Given the description of an element on the screen output the (x, y) to click on. 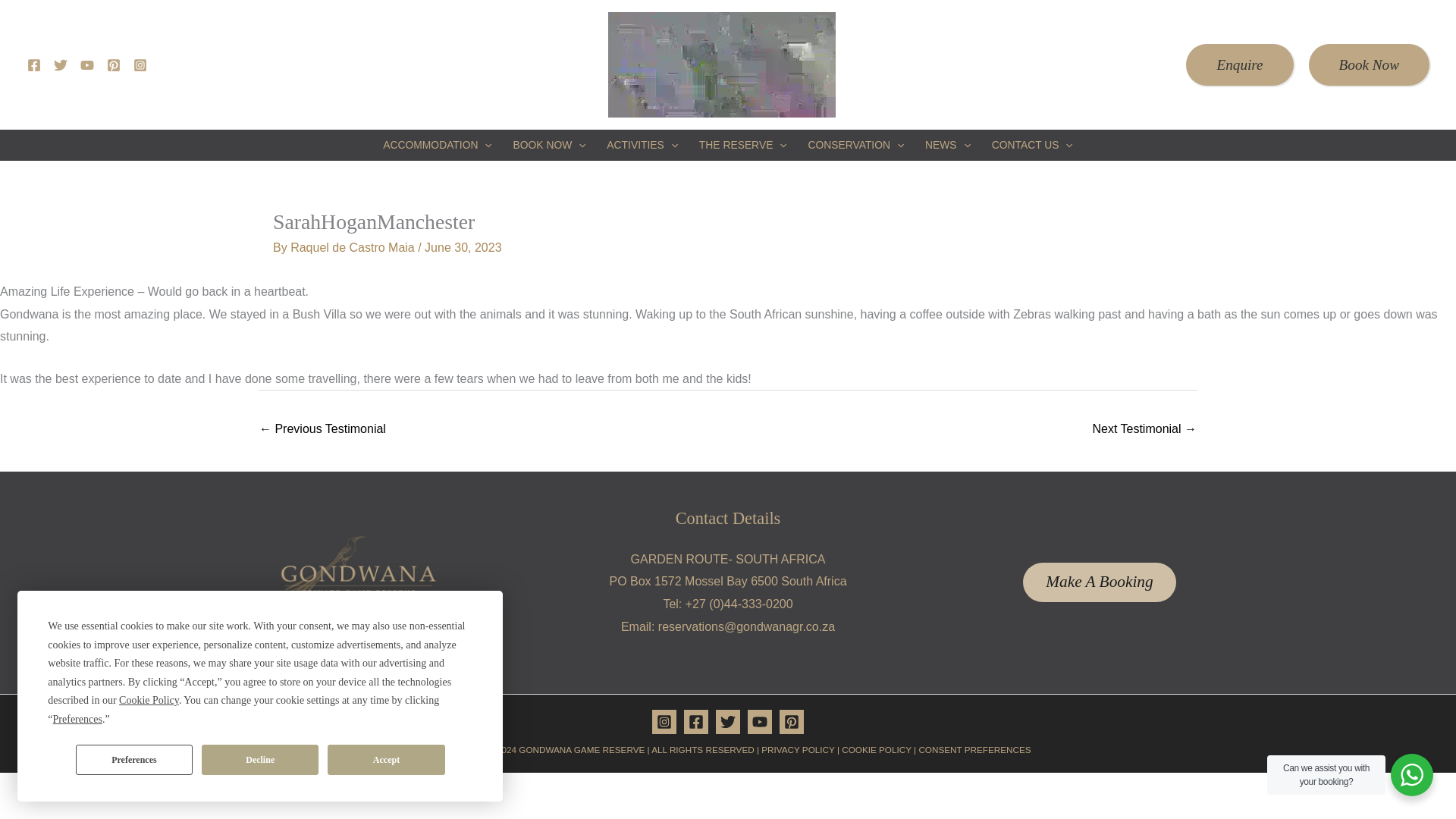
BOOK NOW (549, 144)
Nick F (1144, 430)
Book Now (1368, 65)
ACTIVITIES (641, 144)
Sammy Byrne (322, 430)
View all posts by Raquel de Castro Maia (353, 246)
Enquire (1239, 65)
ACCOMMODATION (437, 144)
